Given the description of an element on the screen output the (x, y) to click on. 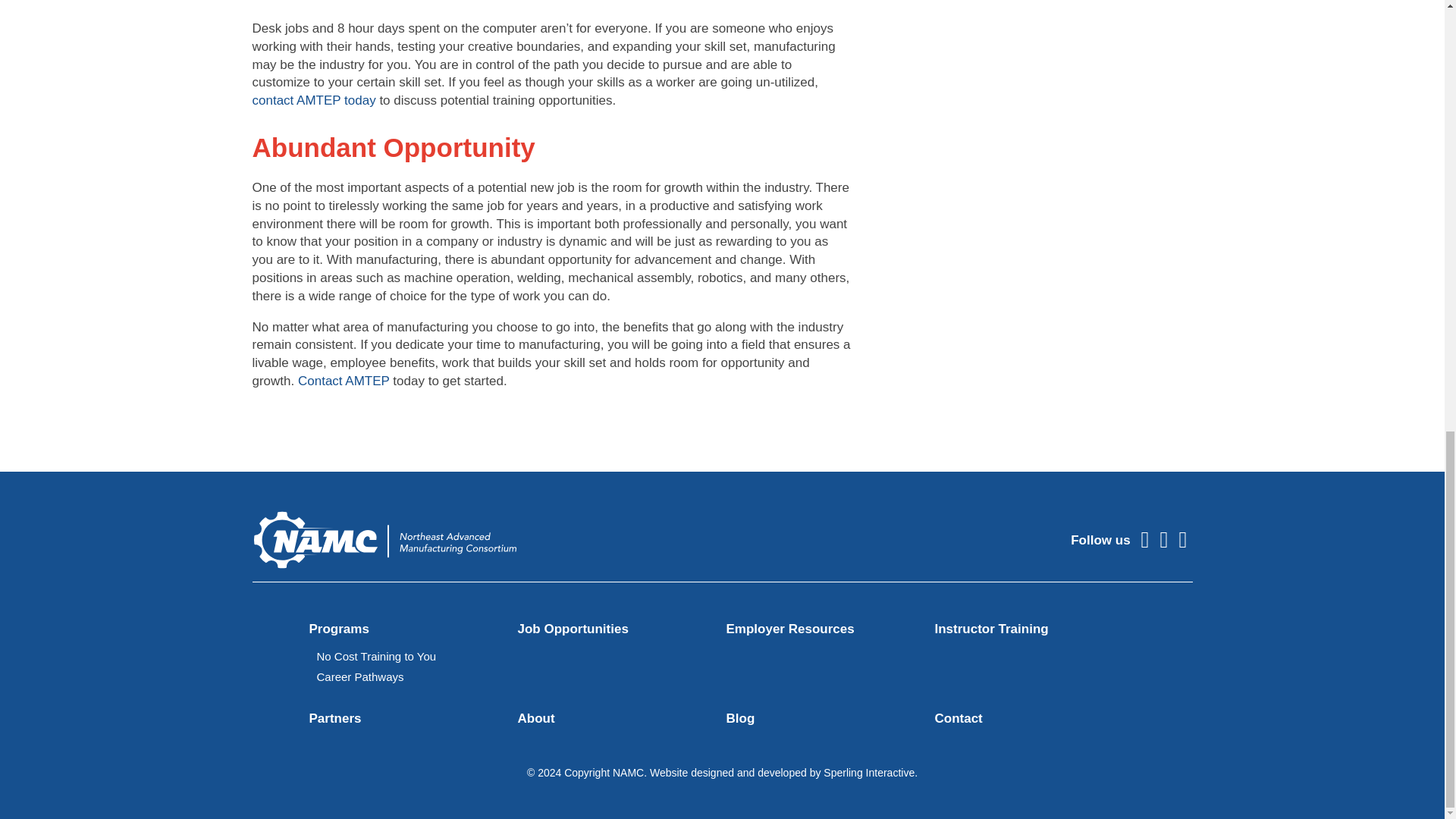
Programs (338, 628)
Instructor Training (991, 628)
Job Opportunities (571, 628)
contact AMTEP today (313, 100)
Partners (334, 718)
Contact AMTEP (344, 380)
Employer Resources (790, 628)
Career Pathways (360, 676)
No Cost Training to You (376, 656)
